Given the description of an element on the screen output the (x, y) to click on. 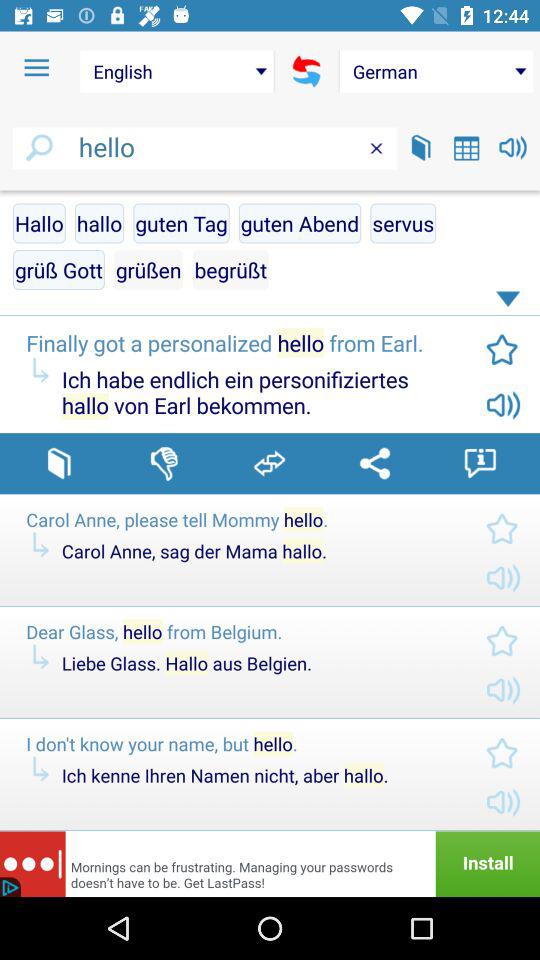
show less (511, 303)
